Given the description of an element on the screen output the (x, y) to click on. 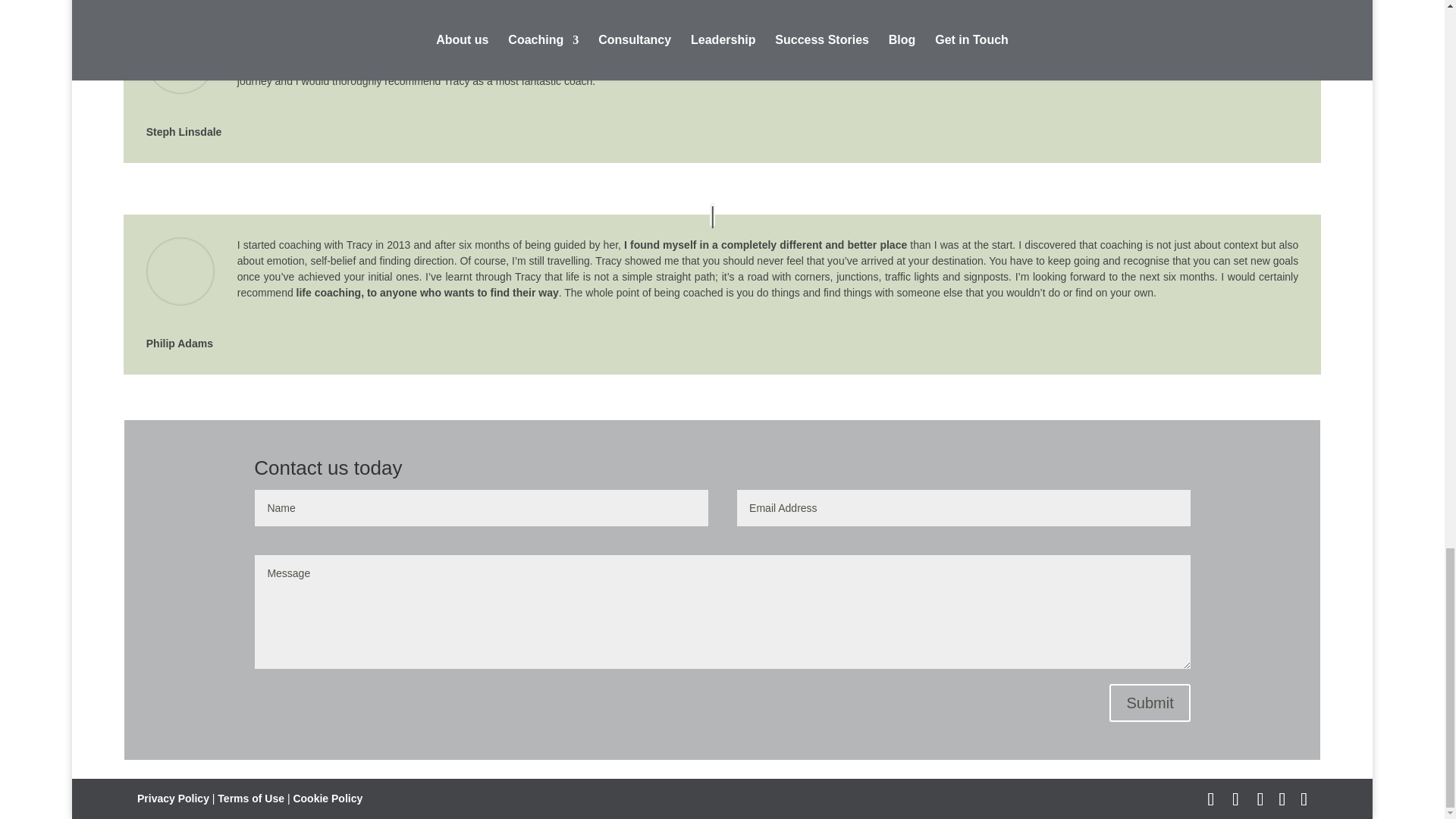
Privacy Policy (172, 798)
Terms of Use (249, 798)
Cookie Policy (327, 798)
Submit (1149, 702)
